Given the description of an element on the screen output the (x, y) to click on. 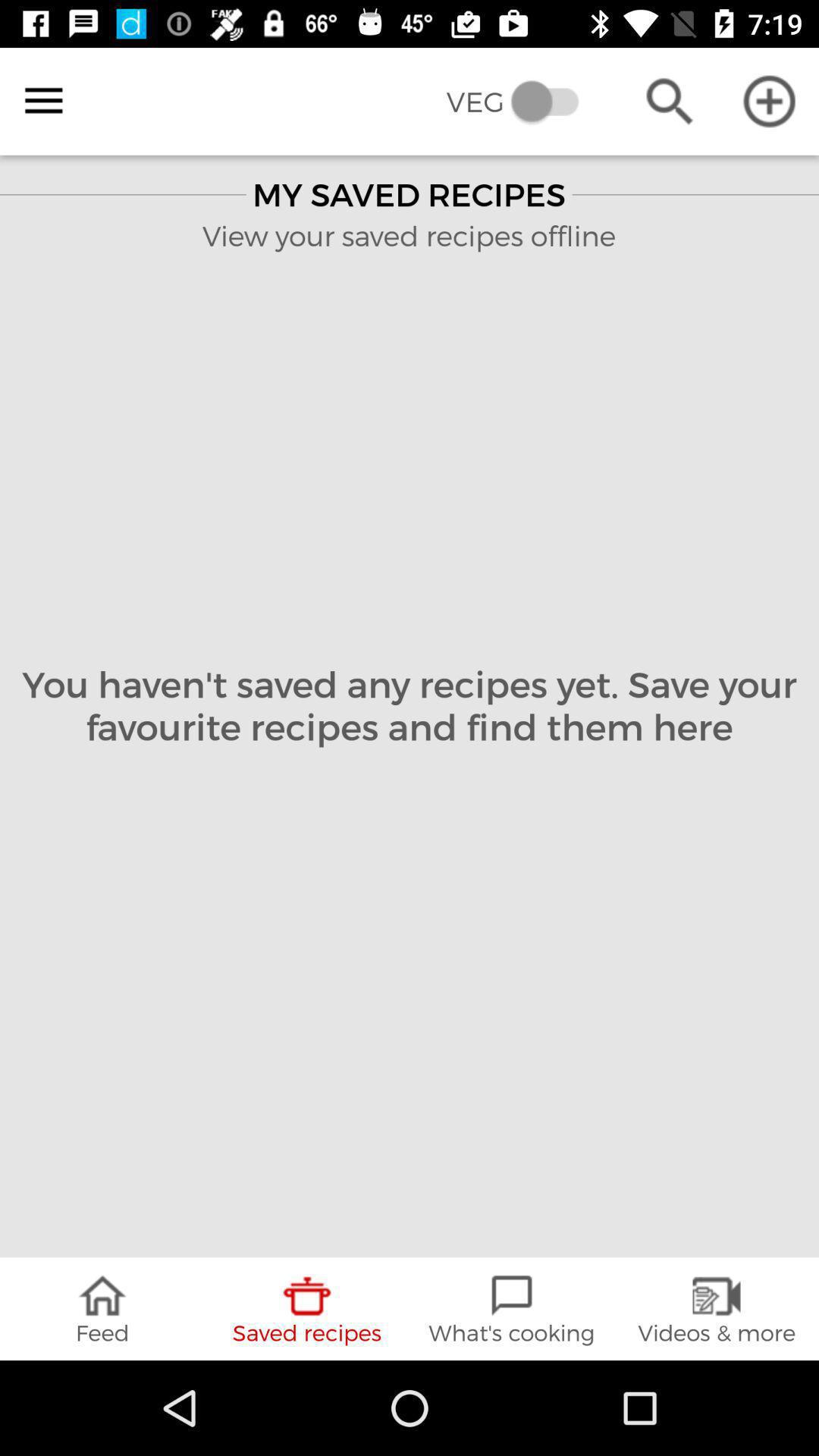
open item next to the what's cooking item (716, 1308)
